Given the description of an element on the screen output the (x, y) to click on. 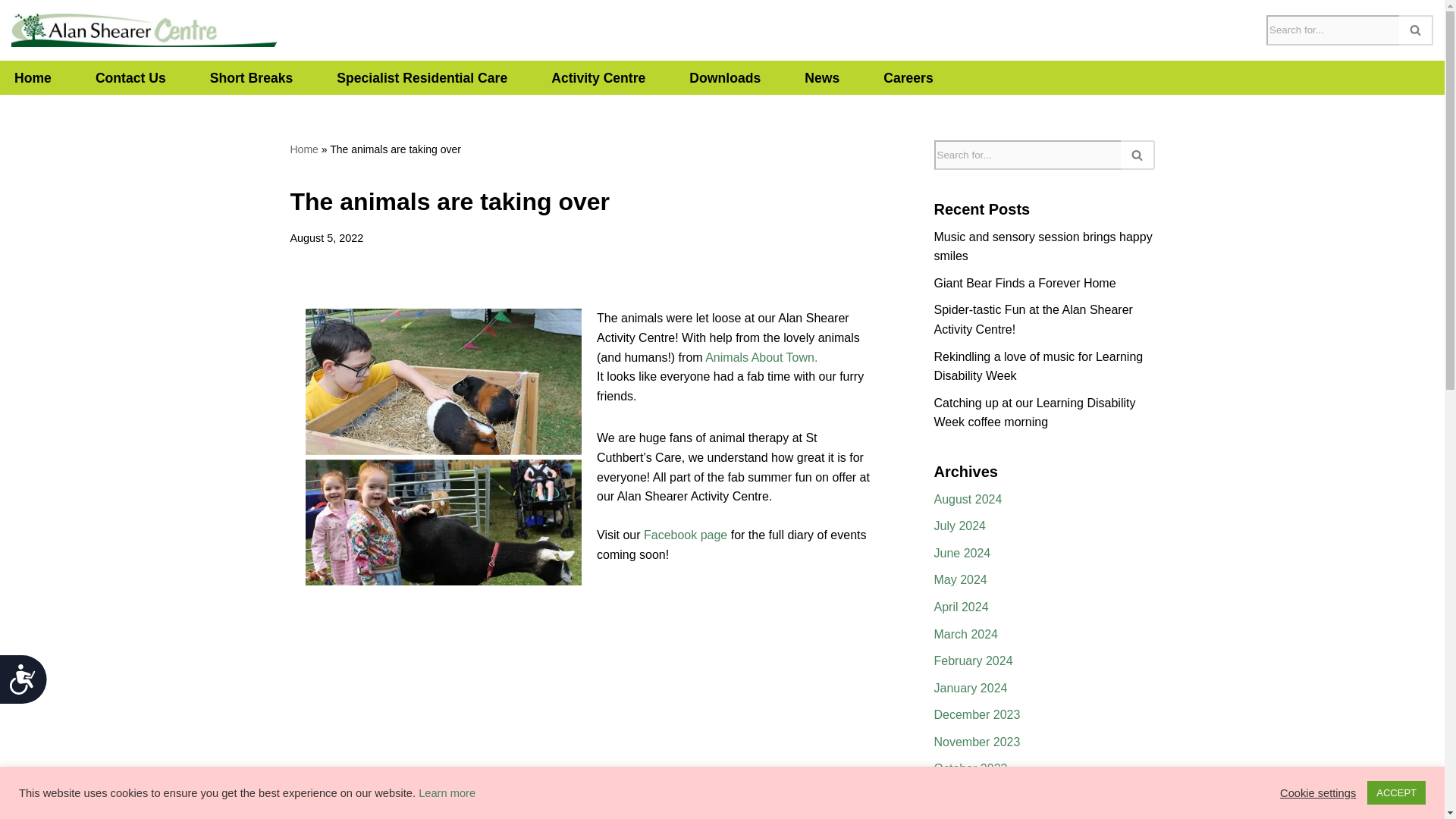
August 2024 (968, 499)
Downloads (724, 77)
May 2024 (960, 579)
Animals About Town. (760, 357)
Activity Centre (598, 77)
Music and sensory session brings happy smiles (1043, 246)
June 2024 (962, 553)
Skip to content (11, 31)
Giant Bear Finds a Forever Home (1025, 282)
Rekindling a love of music for Learning Disability Week (1038, 366)
